Given the description of an element on the screen output the (x, y) to click on. 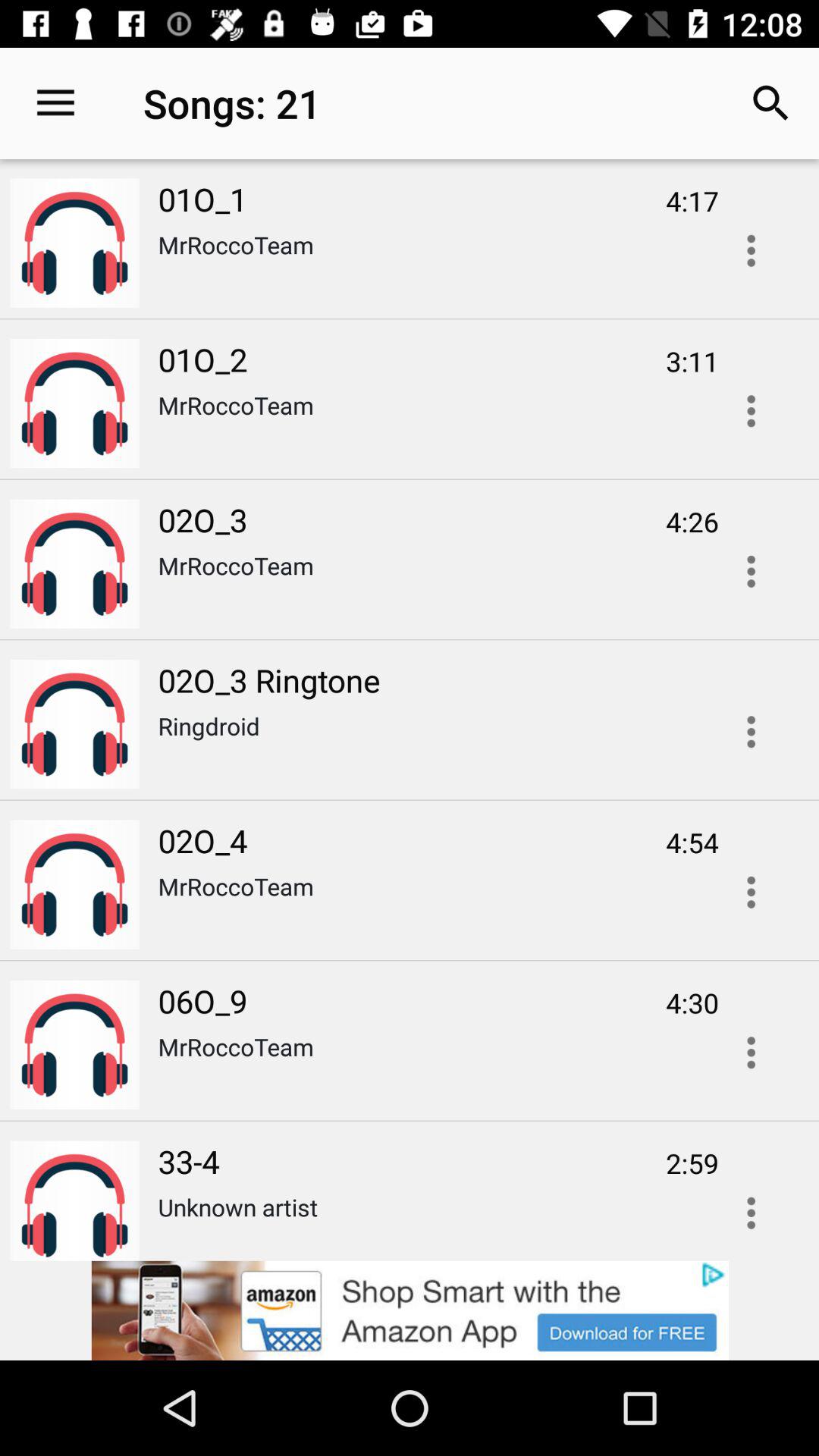
open more settings (750, 731)
